Given the description of an element on the screen output the (x, y) to click on. 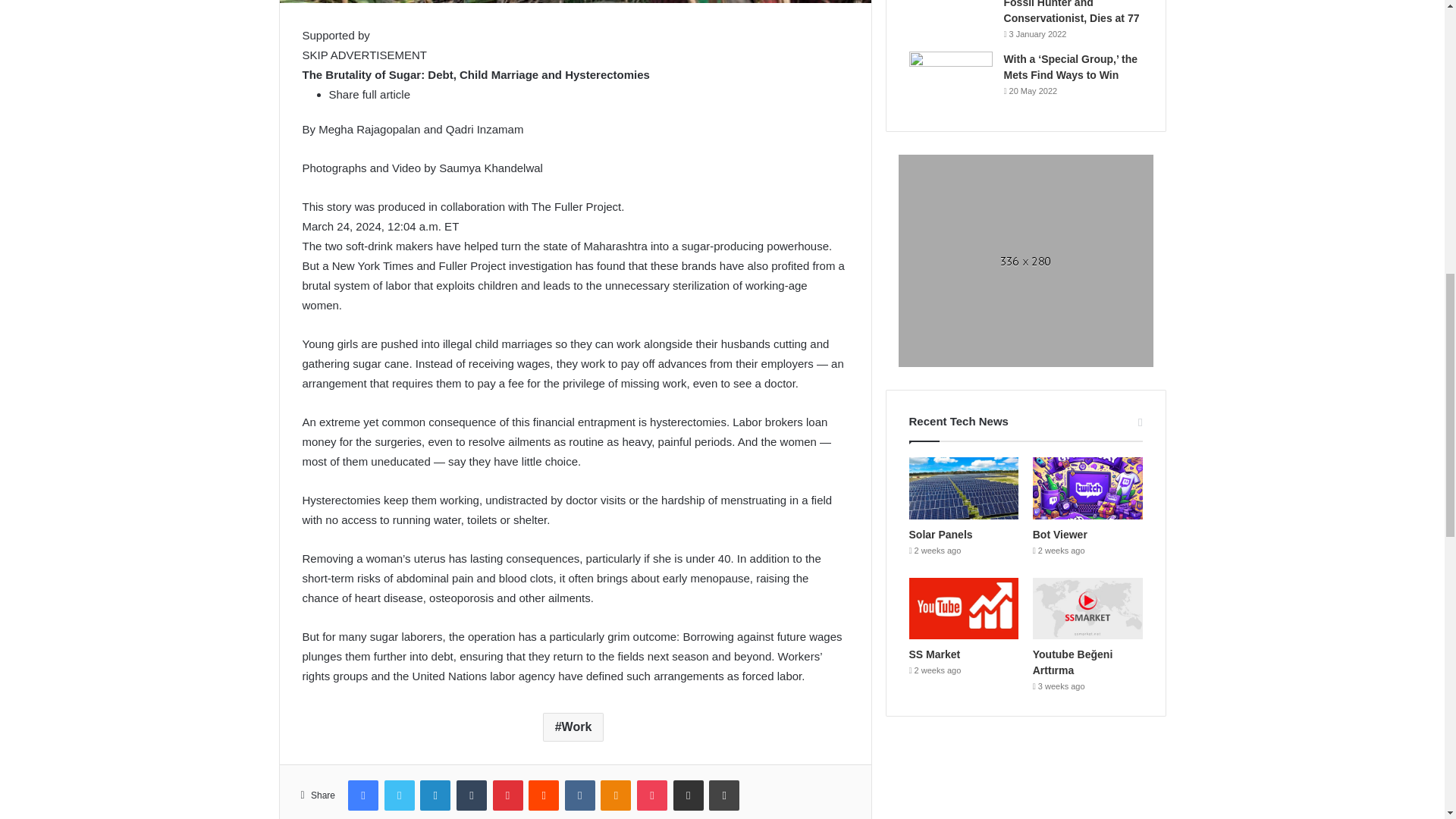
Reddit (543, 795)
LinkedIn (434, 795)
Work (573, 727)
Pinterest (507, 795)
Facebook (362, 795)
Twitter (399, 795)
VKontakte (579, 795)
Tumblr (471, 795)
